Given the description of an element on the screen output the (x, y) to click on. 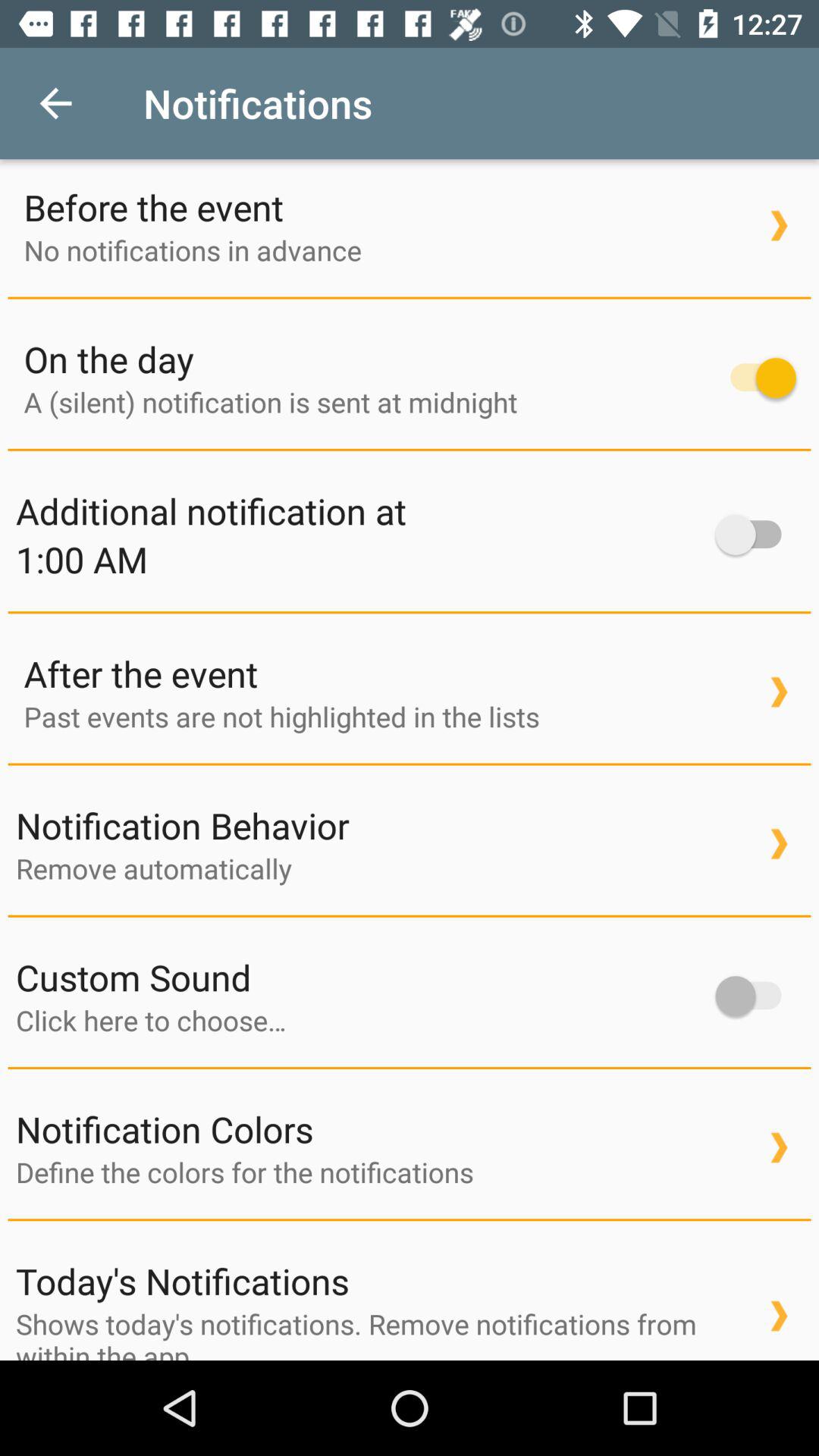
turn off item next to additional notification at item (755, 534)
